Given the description of an element on the screen output the (x, y) to click on. 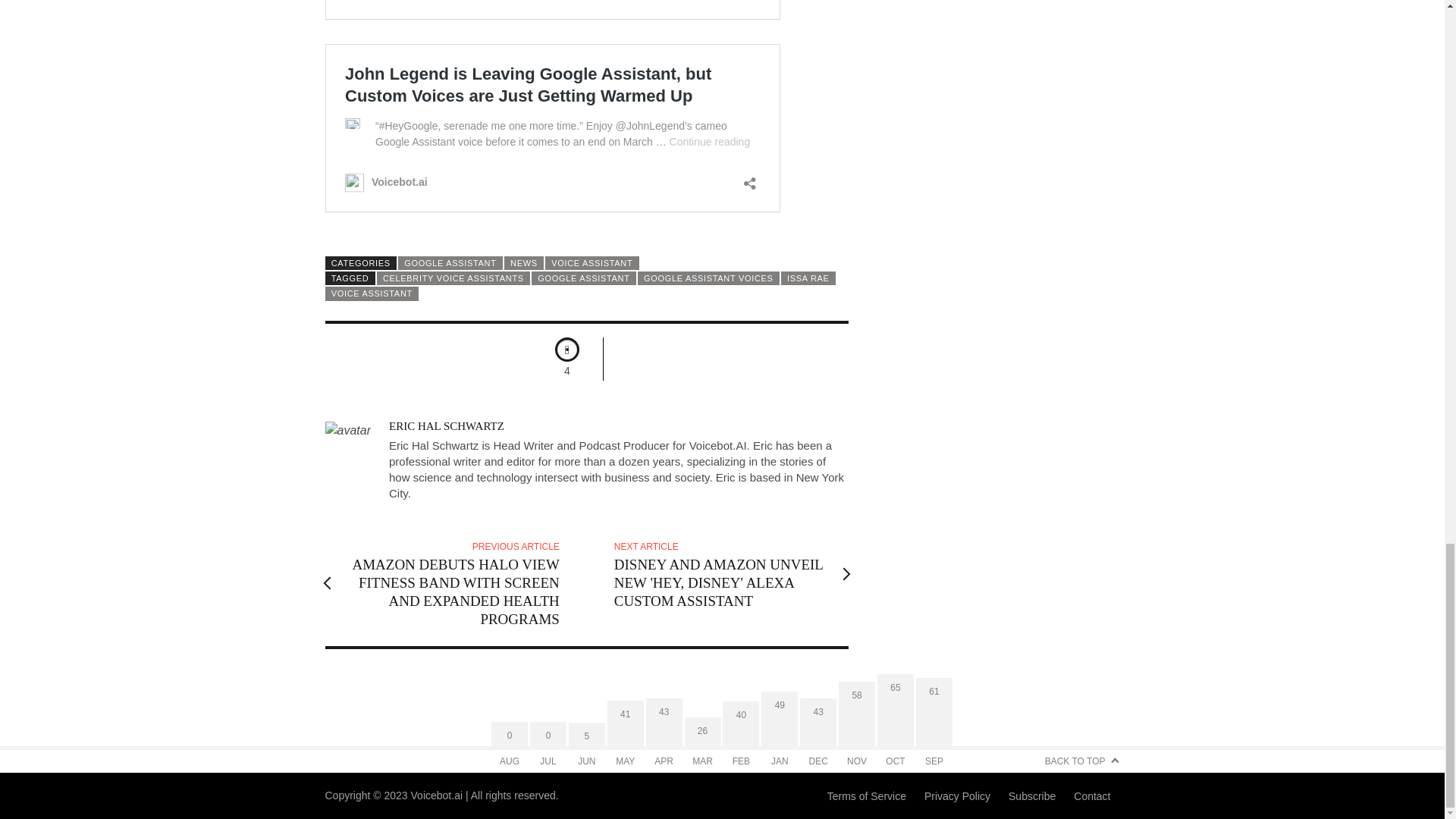
View all posts tagged celebrity voice assistants (453, 278)
View all posts tagged voice assistant (371, 293)
View all posts in Google Assistant (449, 263)
View all posts tagged Google Assistant voices (707, 278)
View all posts in News (523, 263)
View all posts tagged Issa Rae (807, 278)
View all posts in Voice Assistant (591, 263)
View all posts tagged Google Assistant (583, 278)
Posts by Eric Hal Schwartz (445, 426)
